Given the description of an element on the screen output the (x, y) to click on. 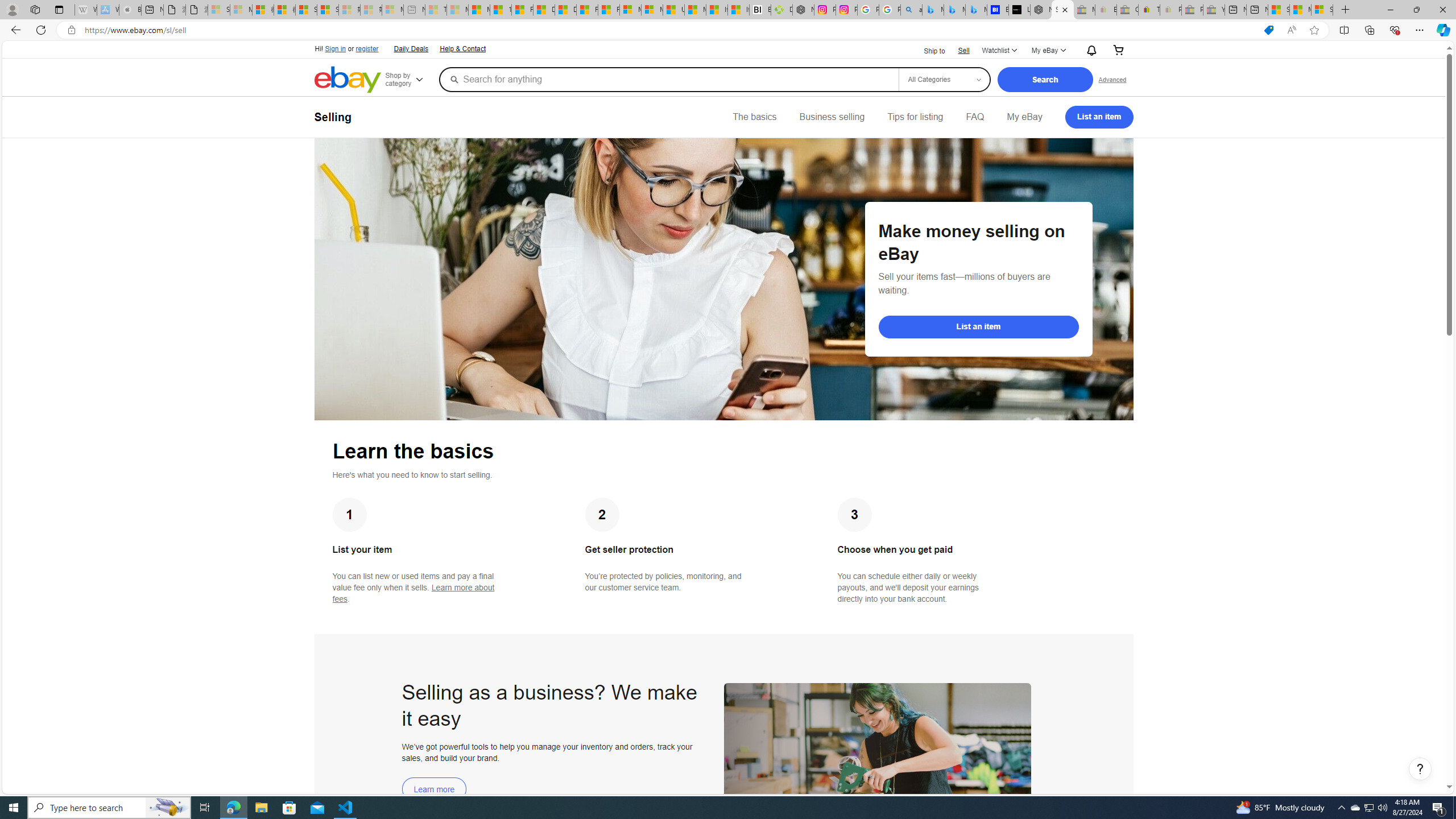
Sign in to your Microsoft account - Sleeping (218, 9)
eBay Home (347, 79)
Microsoft Bing Travel - Shangri-La Hotel Bangkok (975, 9)
The basics (754, 116)
Payments Terms of Use | eBay.com - Sleeping (1170, 9)
Ship to (927, 49)
My eBayExpand My eBay (1048, 50)
Top Stories - MSN - Sleeping (435, 9)
Sign in (335, 49)
FAQ (974, 116)
Foo BAR | Trusted Community Engagement and Contributions (608, 9)
Business selling (831, 116)
